Given the description of an element on the screen output the (x, y) to click on. 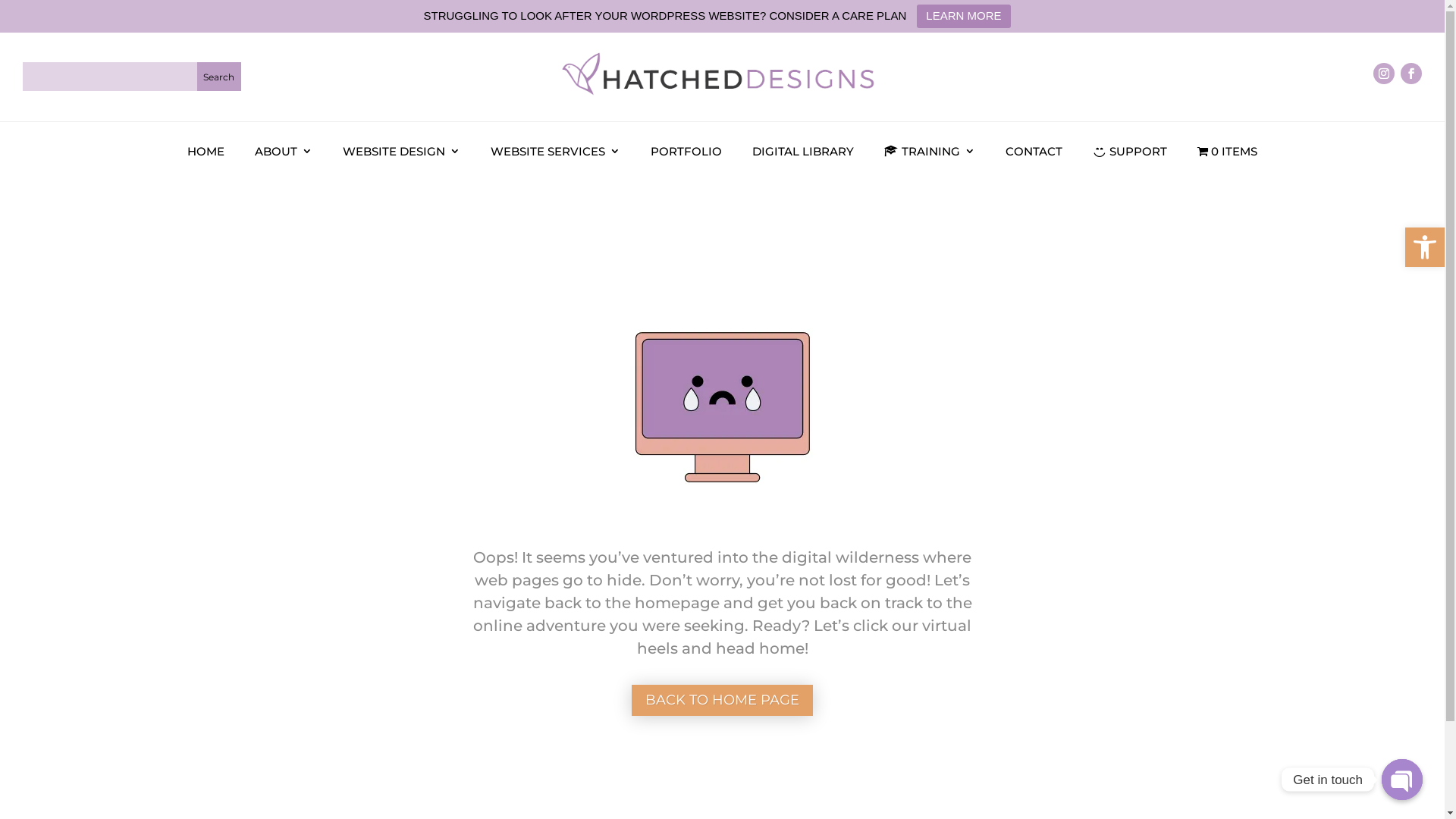
WEBSITE DESIGN Element type: text (401, 151)
Search Element type: text (219, 76)
CONTACT Element type: text (1033, 151)
LEARN MORE Element type: text (963, 16)
WEBSITE SERVICES Element type: text (555, 151)
BACK TO HOME PAGE Element type: text (721, 699)
44038420_297226791096968_5400707038672060416_n Element type: hover (722, 76)
404 Element type: hover (721, 406)
SUPPORT Element type: text (1129, 151)
Follow on Facebook Element type: hover (1410, 73)
Follow on Instagram Element type: hover (1383, 73)
Open toolbar
Accessibility Tools Element type: text (1424, 246)
TRAINING Element type: text (929, 151)
DIGITAL LIBRARY Element type: text (802, 151)
PORTFOLIO Element type: text (685, 151)
ABOUT Element type: text (283, 151)
0 ITEMS Element type: text (1227, 151)
HOME Element type: text (205, 151)
